Given the description of an element on the screen output the (x, y) to click on. 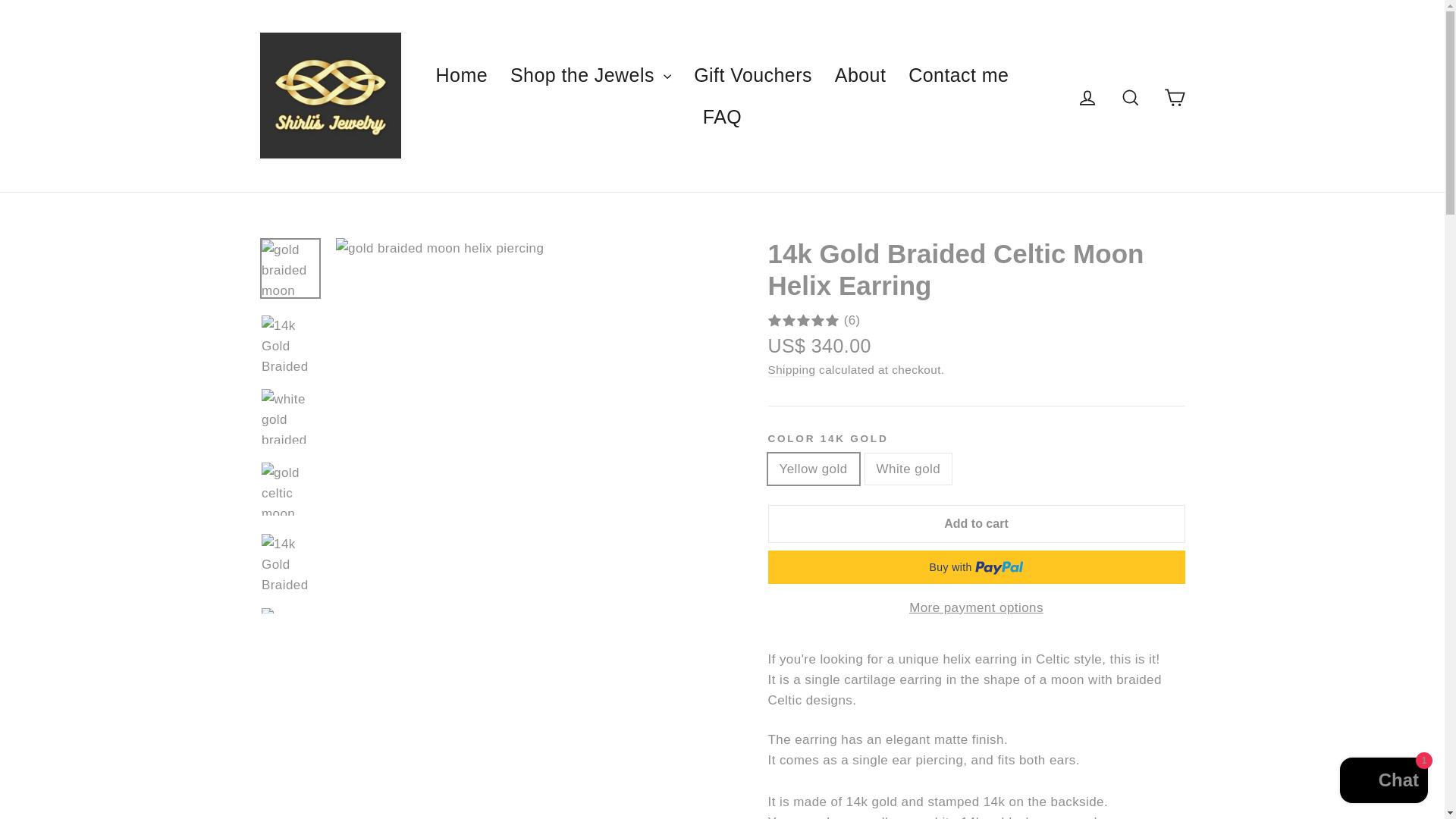
Shopify online store chat (1383, 781)
